Given the description of an element on the screen output the (x, y) to click on. 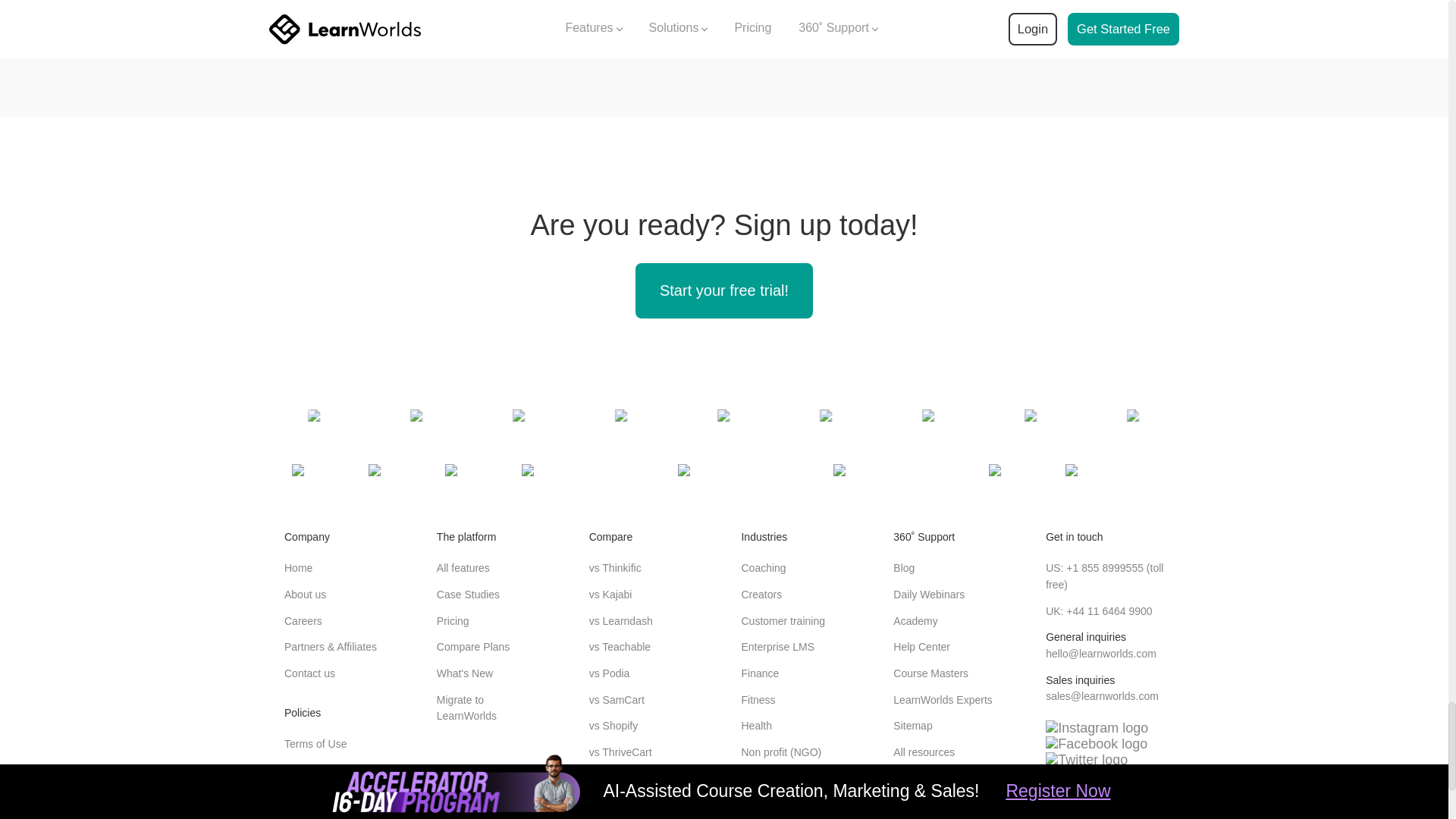
send email to LearnWorlds (1101, 695)
send email to LearnWorlds (1100, 653)
